Given the description of an element on the screen output the (x, y) to click on. 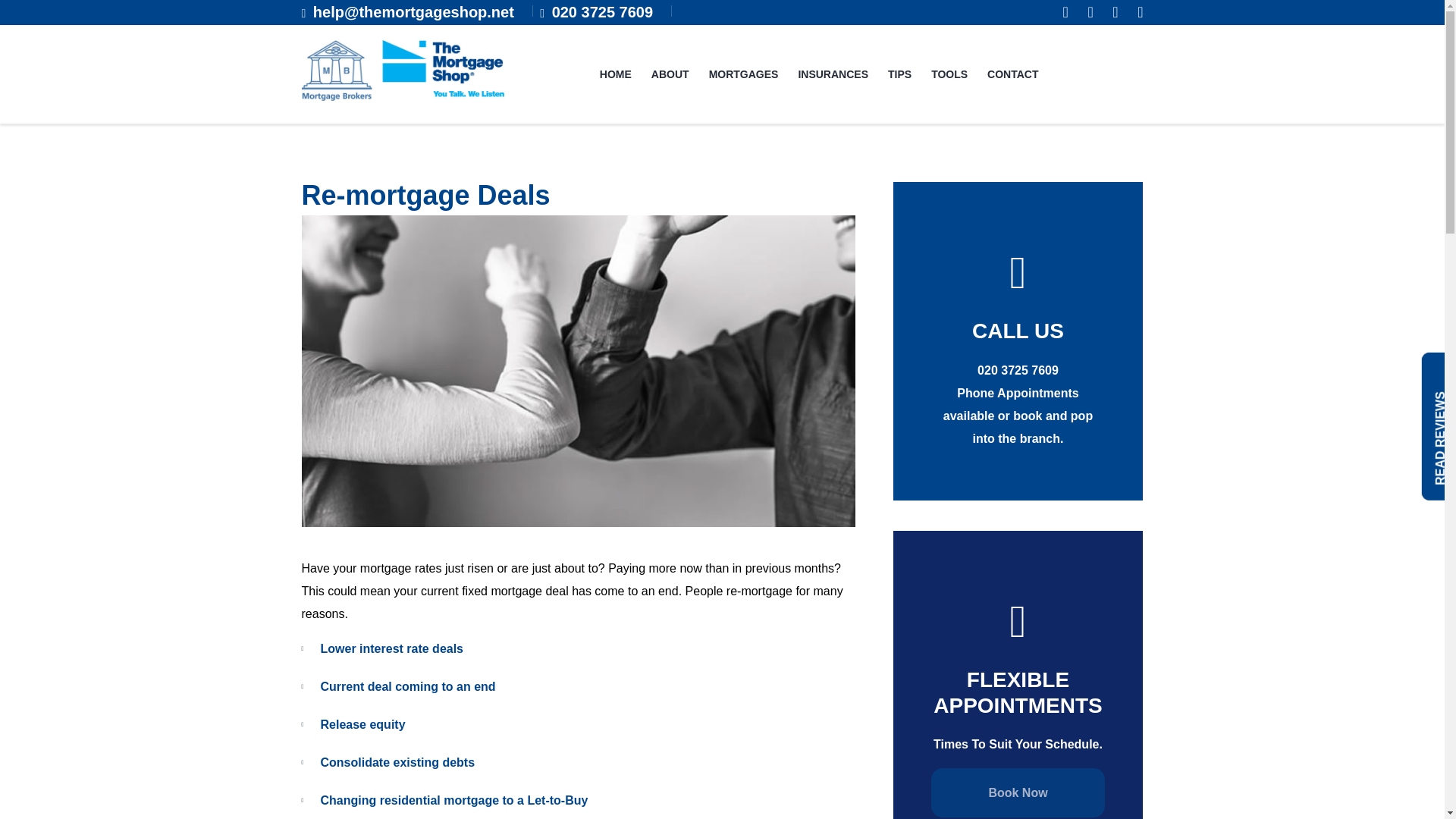
Call Now (1017, 369)
MORTGAGES (743, 74)
020 3725 7609 (601, 12)
Call Now (601, 12)
Click To Email (413, 12)
INSURANCES (833, 74)
